Given the description of an element on the screen output the (x, y) to click on. 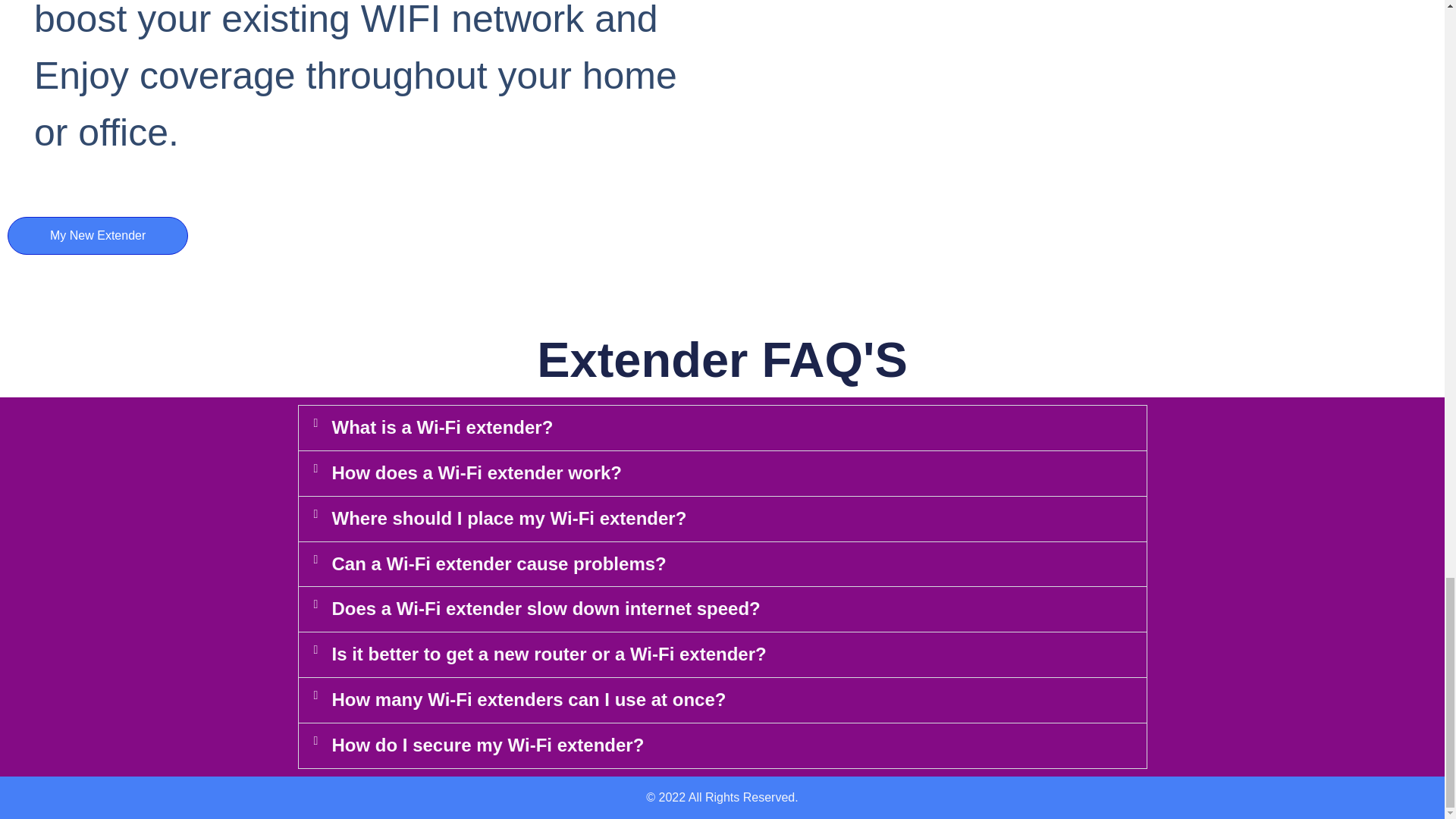
My New Extender (97, 235)
How do I secure my Wi-Fi extender? (488, 744)
Where should I place my Wi-Fi extender? (509, 517)
Can a Wi-Fi extender cause problems? (498, 563)
How many Wi-Fi extenders can I use at once? (528, 699)
What is a Wi-Fi extender? (442, 426)
Is it better to get a new router or a Wi-Fi extender? (549, 653)
Does a Wi-Fi extender slow down internet speed? (545, 608)
How does a Wi-Fi extender work? (477, 472)
